Given the description of an element on the screen output the (x, y) to click on. 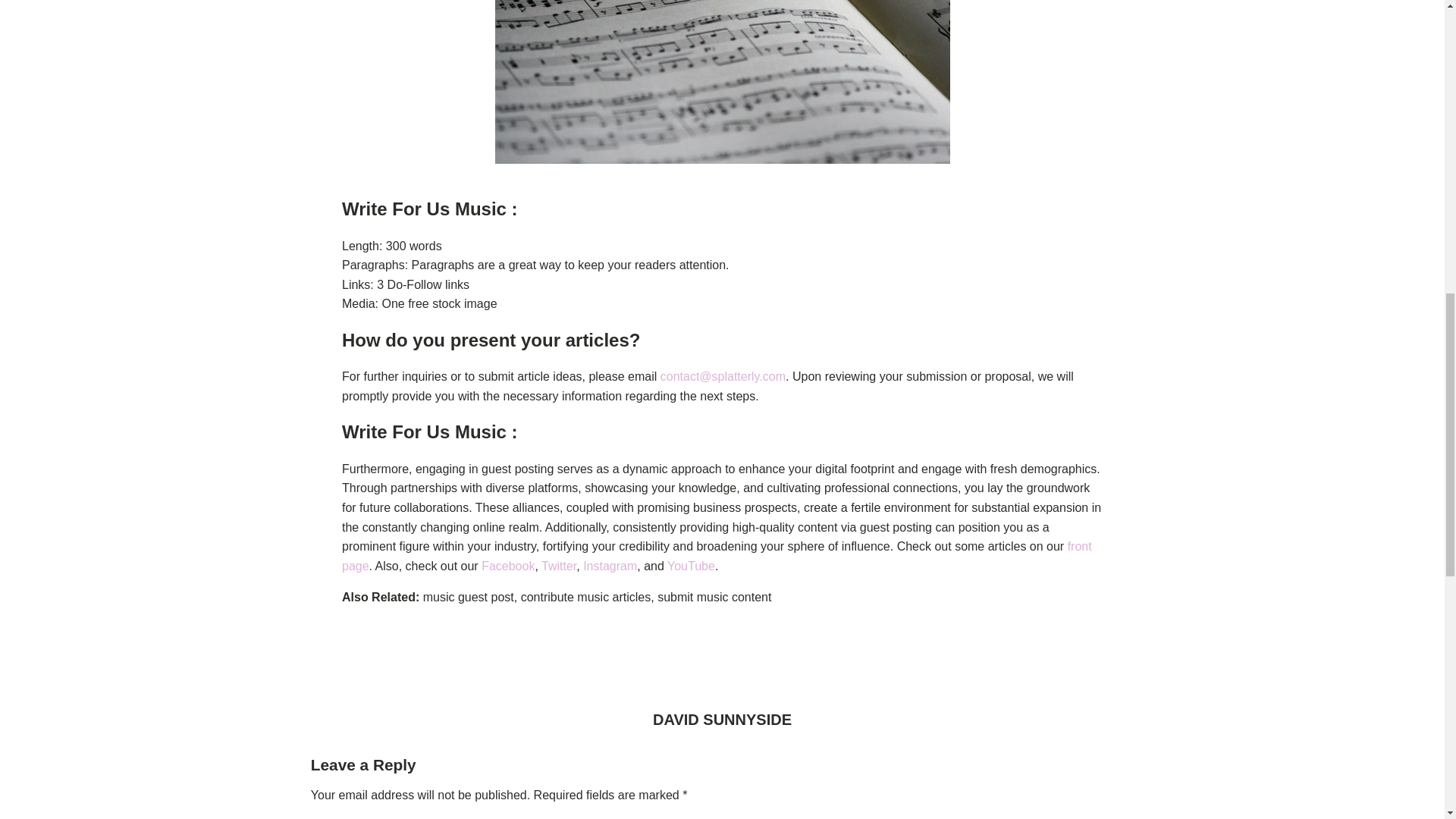
Facebook (507, 565)
front page (717, 555)
YouTube (690, 565)
Twitter (558, 565)
Instagram (610, 565)
